Given the description of an element on the screen output the (x, y) to click on. 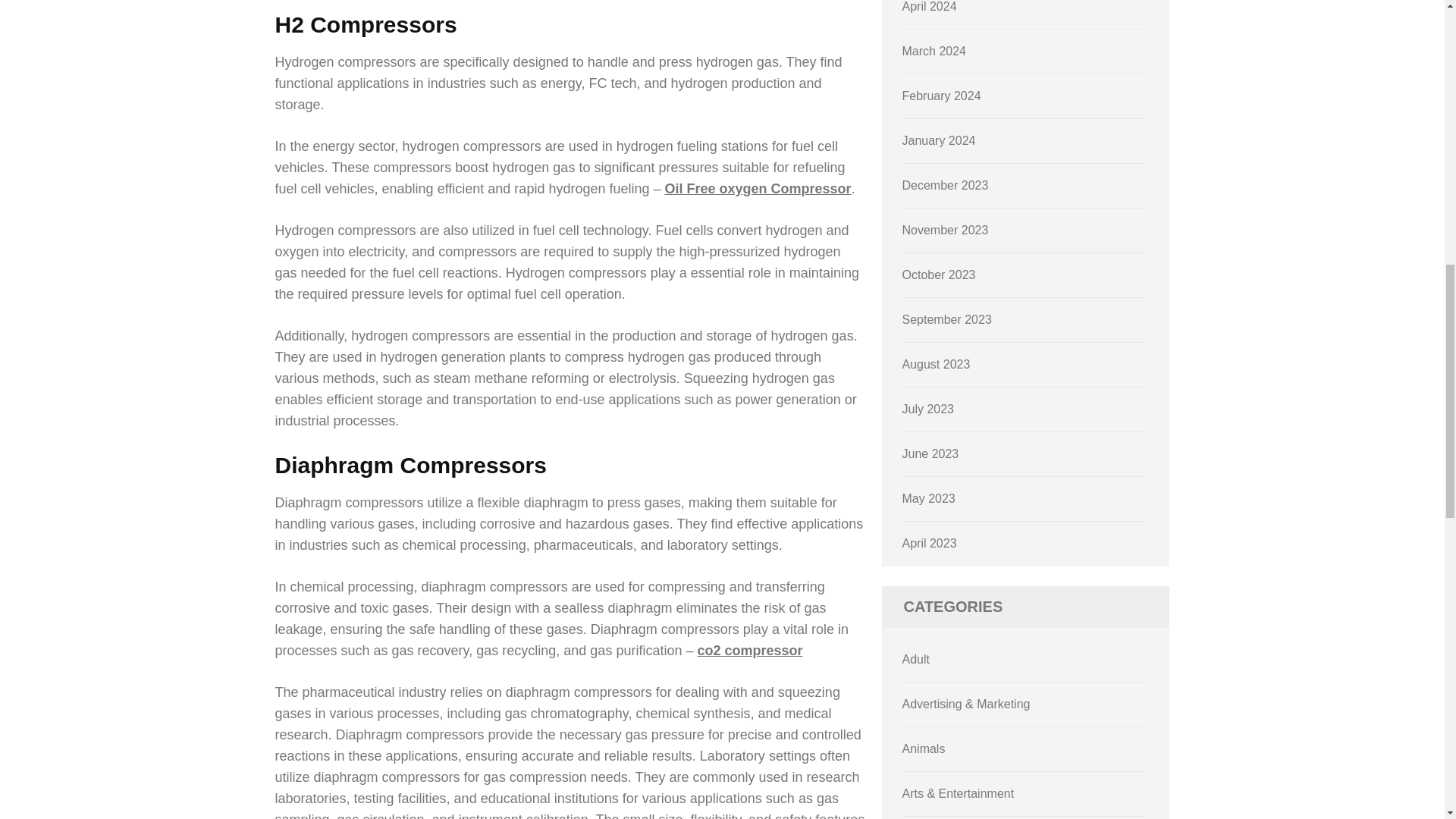
Adult (916, 658)
May 2023 (928, 498)
Oil Free oxygen Compressor (758, 188)
October 2023 (938, 274)
December 2023 (945, 185)
September 2023 (946, 318)
April 2023 (929, 543)
June 2023 (930, 453)
April 2024 (929, 6)
July 2023 (928, 408)
February 2024 (941, 95)
August 2023 (936, 364)
March 2024 (934, 51)
January 2024 (938, 140)
co2 compressor (749, 650)
